Given the description of an element on the screen output the (x, y) to click on. 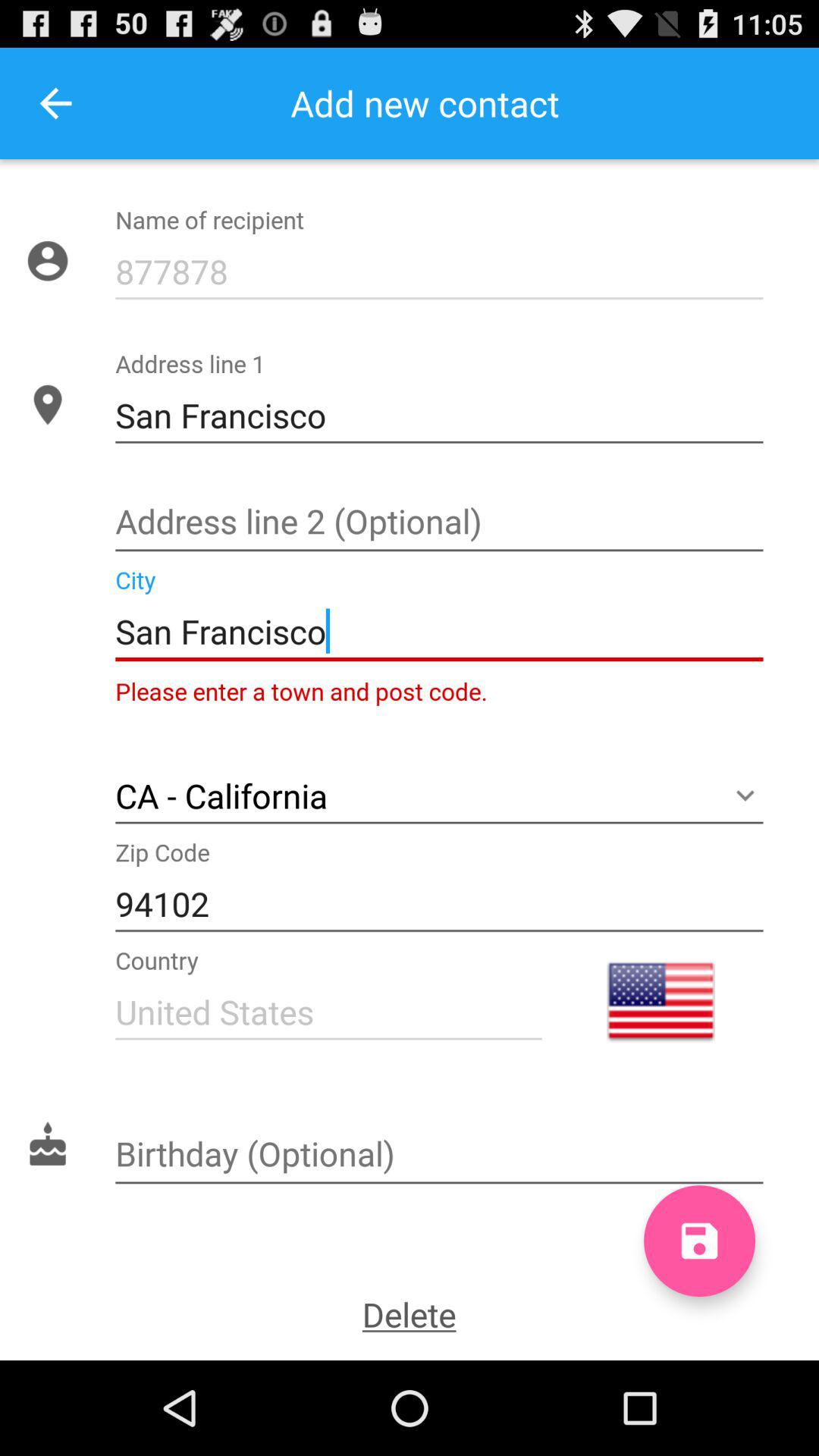
save contact (699, 1240)
